Given the description of an element on the screen output the (x, y) to click on. 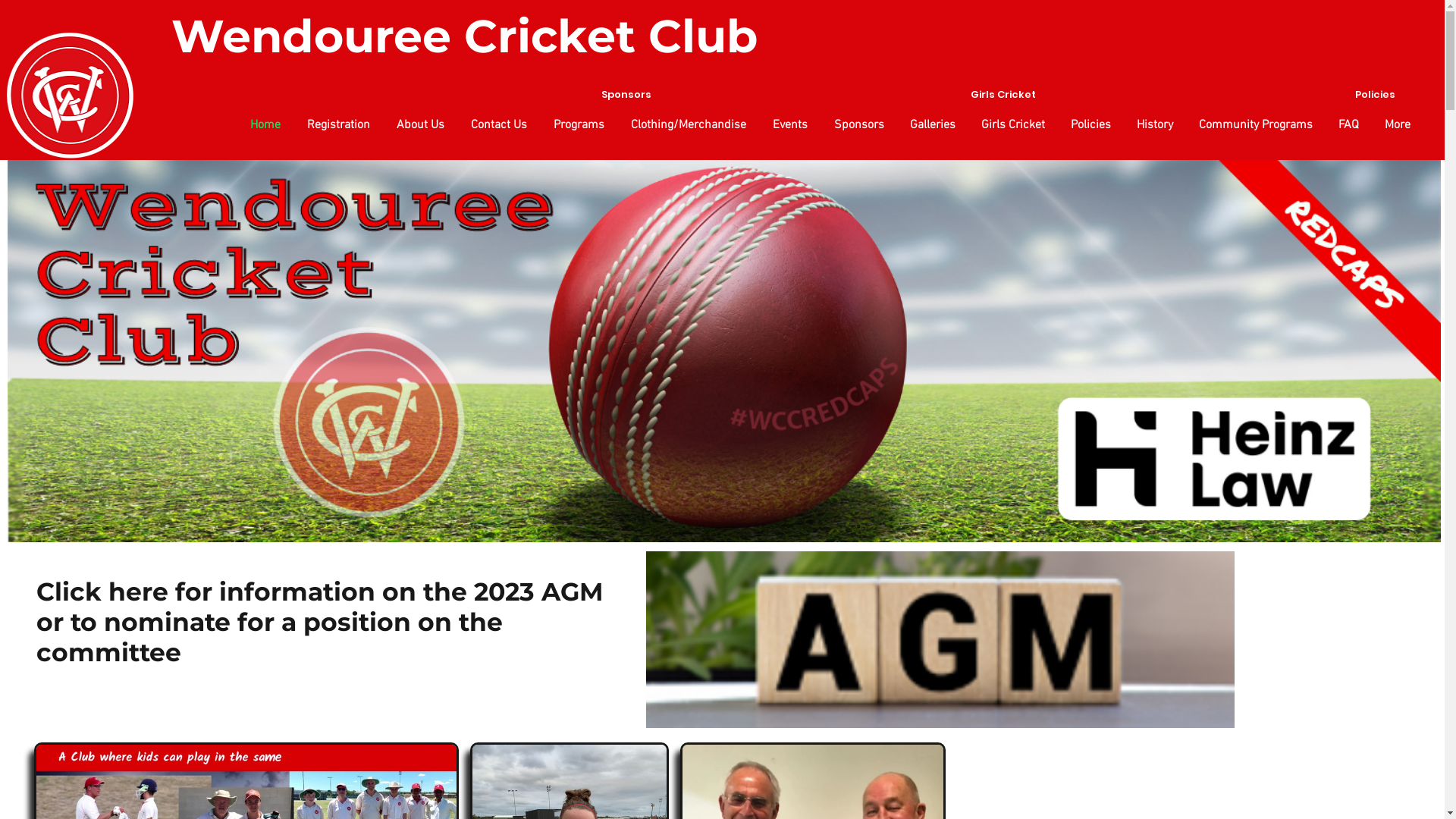
Events Element type: text (788, 124)
History Element type: text (1153, 124)
Contact Us Element type: text (496, 124)
Girls Cricket Element type: text (854, 94)
Home Element type: text (263, 124)
Clothing/Merchandise Element type: text (686, 124)
Policies Element type: text (1089, 124)
About Us Element type: text (418, 124)
Policies Element type: text (1226, 94)
Registration Element type: text (336, 124)
Galleries Element type: text (930, 124)
Sponsors Element type: text (857, 124)
Sponsors Element type: text (477, 94)
FAQ Element type: text (1347, 124)
Programs Element type: text (576, 124)
Community Programs Element type: text (1254, 124)
Girls Cricket Element type: text (1011, 124)
